Given the description of an element on the screen output the (x, y) to click on. 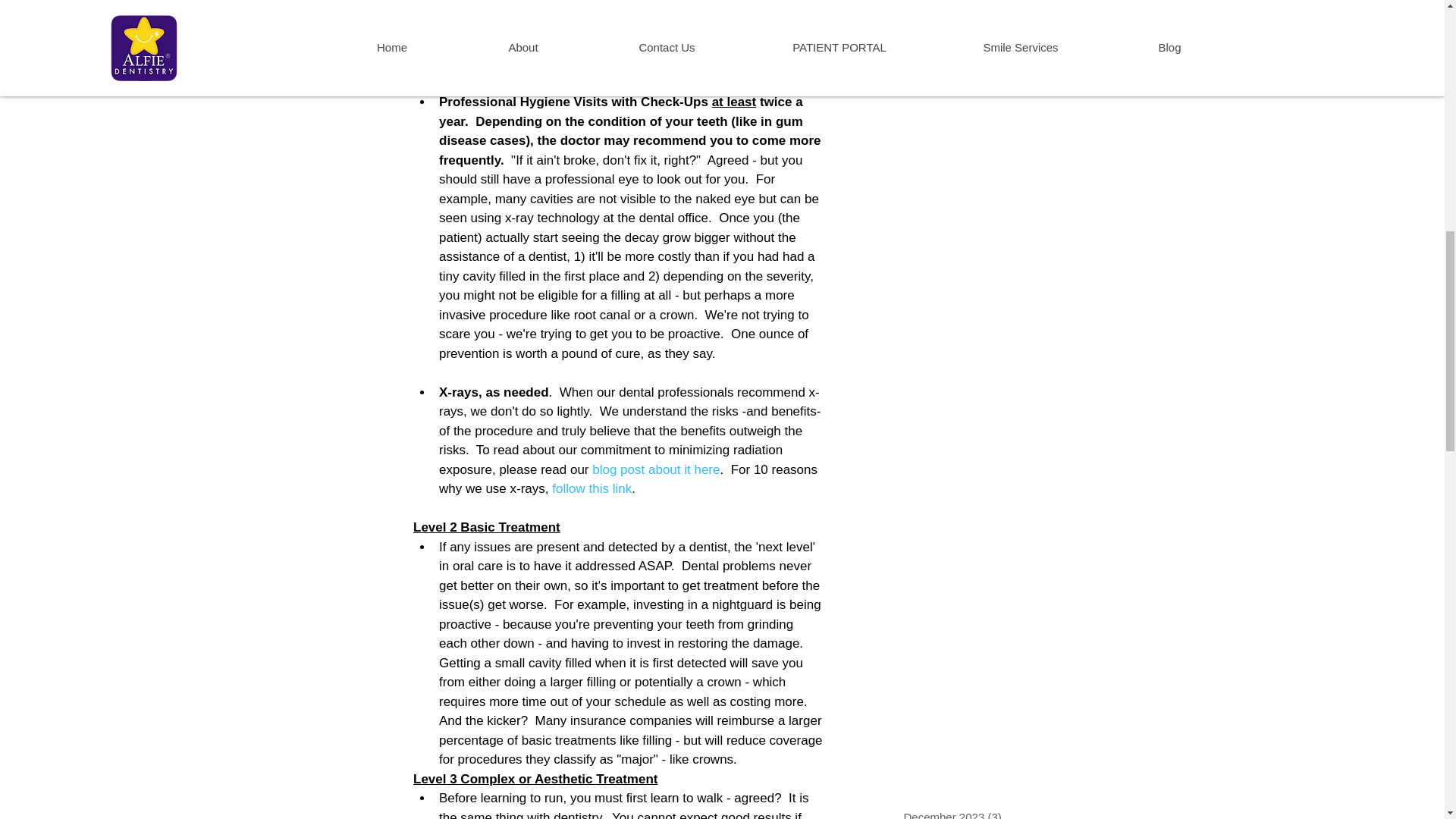
contact us here (624, 53)
follow this link (591, 488)
blog post about it here (655, 469)
this article (727, 6)
